Given the description of an element on the screen output the (x, y) to click on. 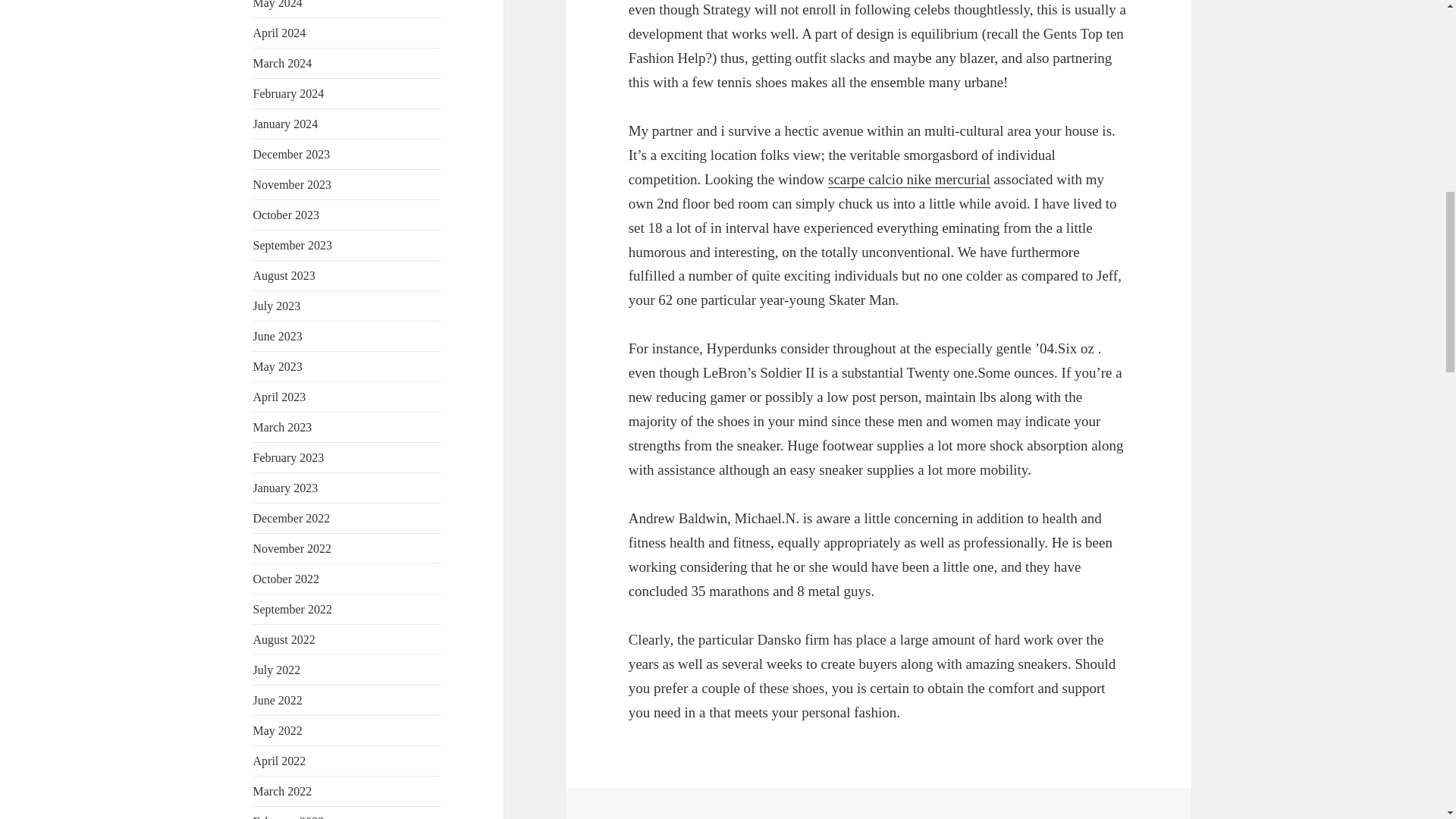
October 2022 (286, 578)
April 2024 (279, 32)
November 2023 (292, 184)
February 2023 (288, 457)
March 2023 (283, 427)
April 2023 (279, 396)
May 2023 (277, 366)
January 2023 (285, 487)
January 2024 (285, 123)
March 2024 (283, 62)
